Given the description of an element on the screen output the (x, y) to click on. 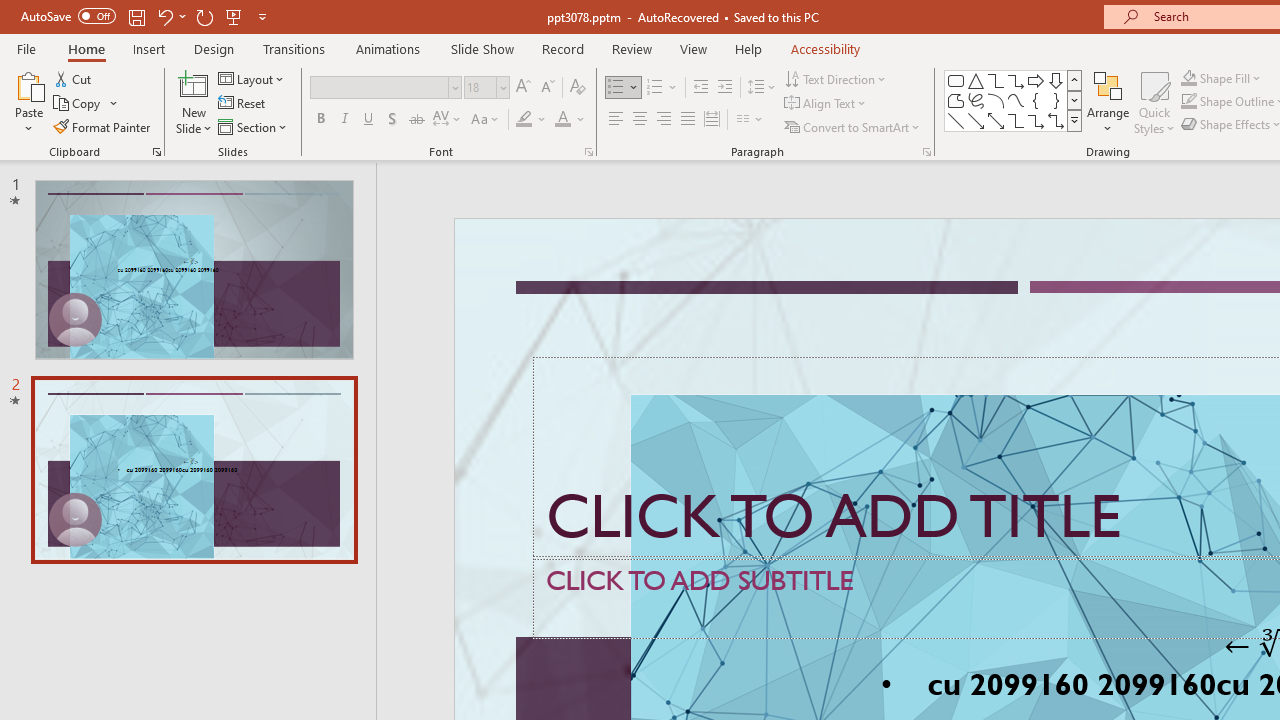
Font (379, 87)
Decrease Indent (700, 87)
Line Spacing (762, 87)
Shadow (392, 119)
Decrease Font Size (547, 87)
New Slide (193, 102)
Connector: Elbow Double-Arrow (1055, 120)
Text Direction (836, 78)
Paste (28, 102)
Freeform: Scribble (975, 100)
Bold (320, 119)
AutomationID: ShapesInsertGallery (1014, 100)
Row Down (1074, 100)
